Given the description of an element on the screen output the (x, y) to click on. 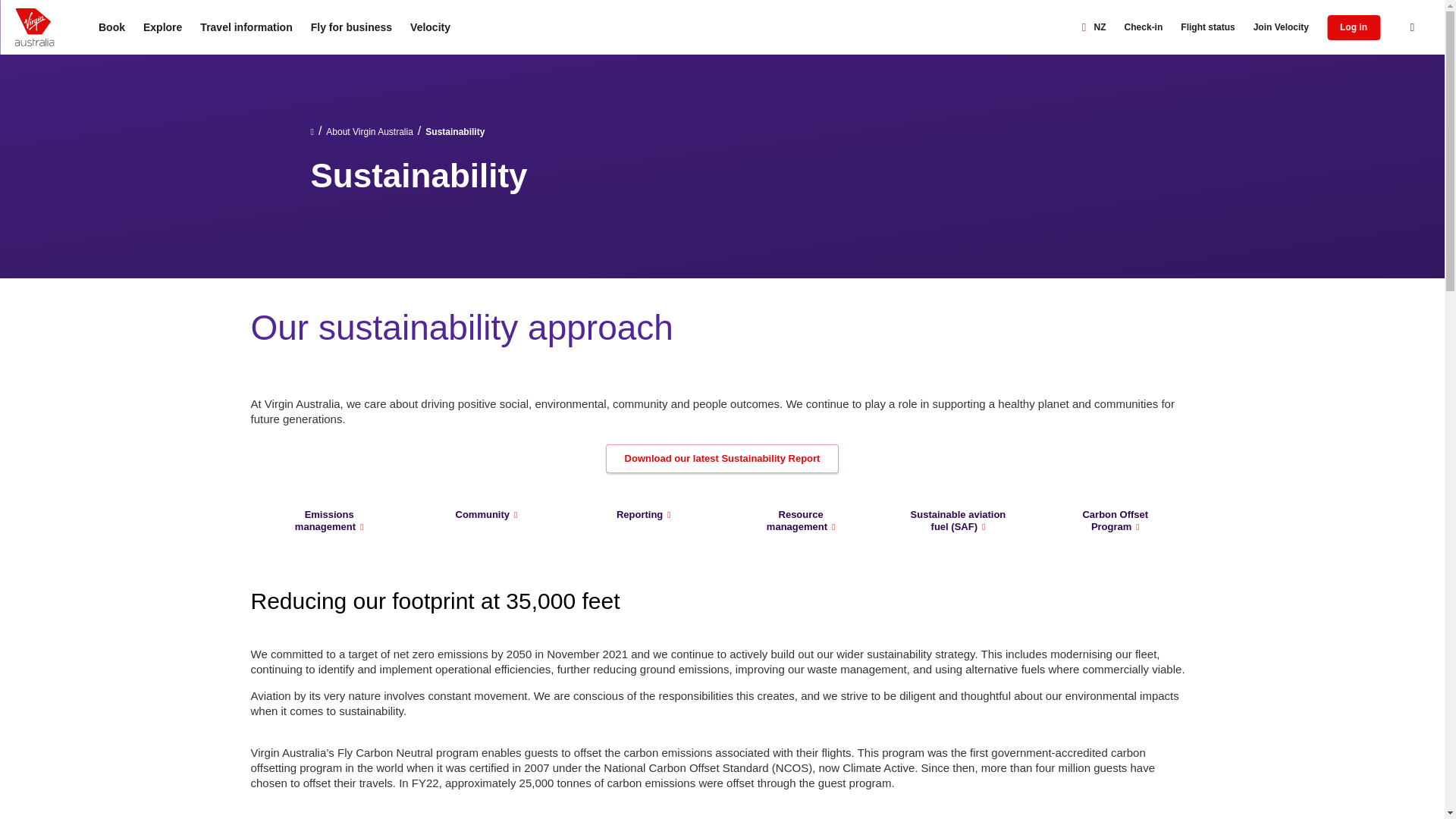
Download our latest Sustainability Report  (722, 458)
Reporting (643, 514)
VA Logo (33, 26)
Community (485, 514)
Join Velocity (1280, 26)
Explore (162, 27)
Book (111, 27)
Resource management (800, 520)
Carbon Offset Program (1115, 520)
Emissions management (328, 520)
